Given the description of an element on the screen output the (x, y) to click on. 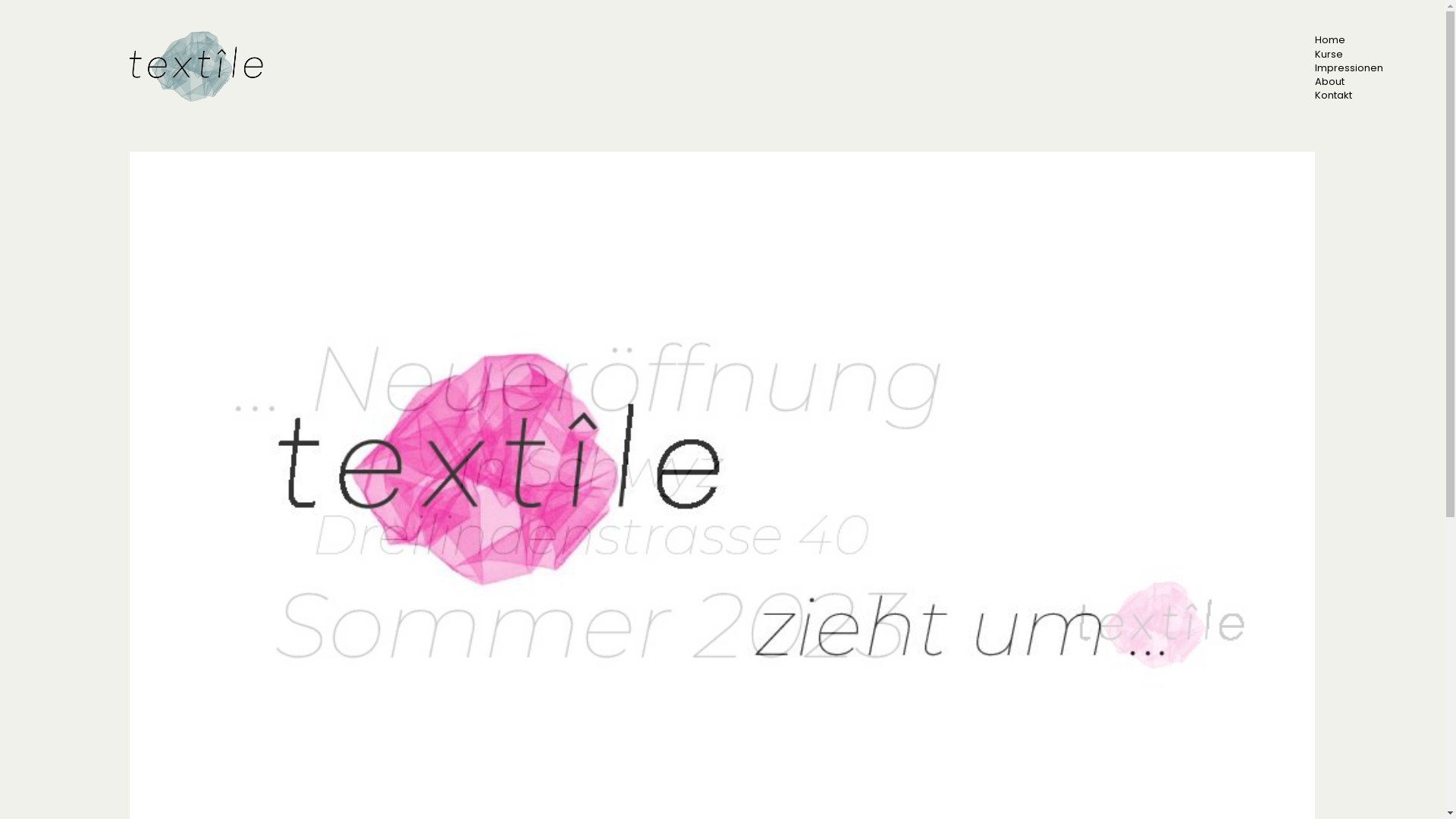
About Element type: text (1329, 81)
Home Element type: text (1329, 39)
atelier-textile Element type: hover (199, 66)
Impressionen Element type: text (1348, 67)
Kurse Element type: text (1328, 54)
Kontakt Element type: text (1333, 94)
